Given the description of an element on the screen output the (x, y) to click on. 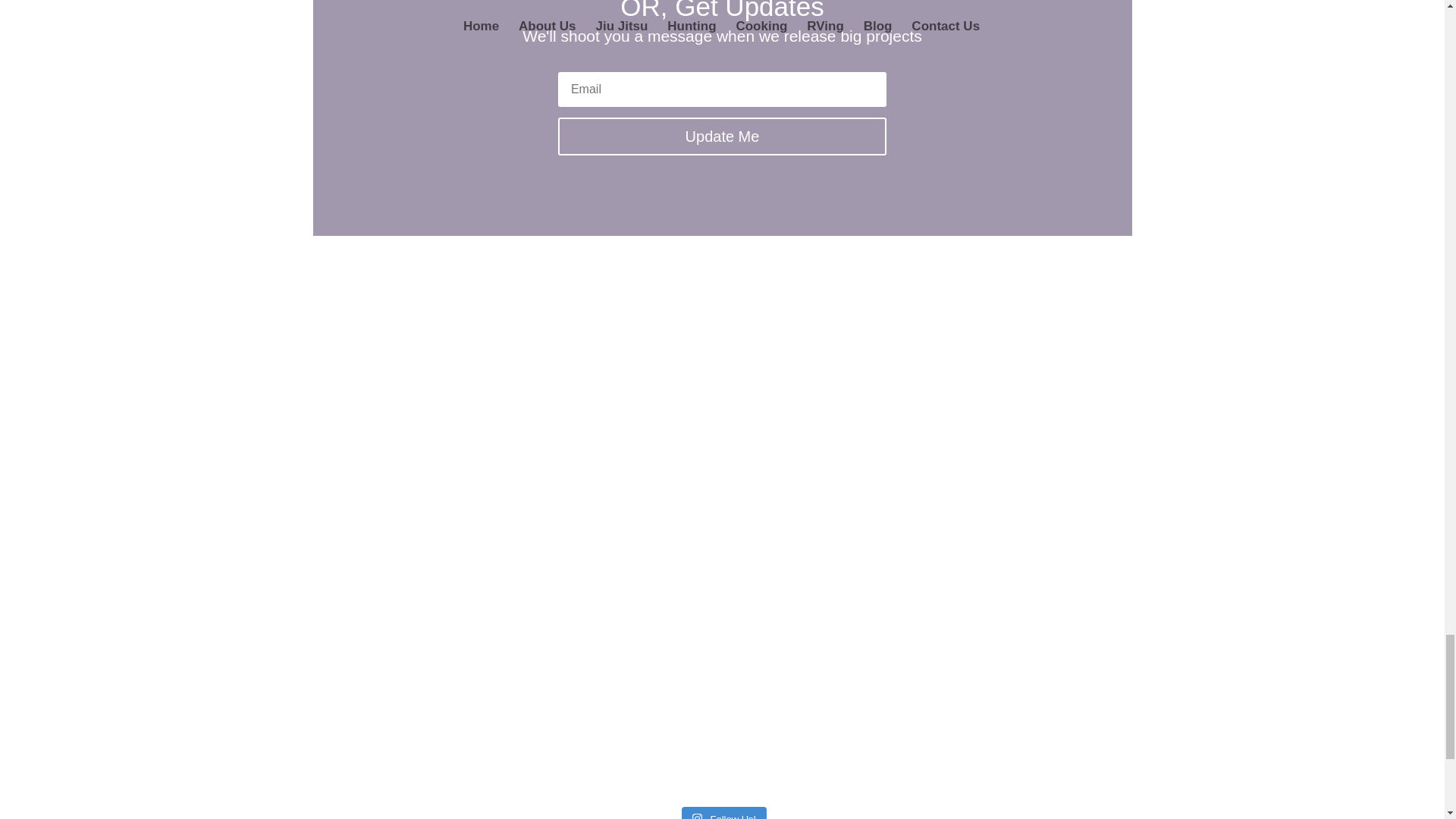
Follow Us! (724, 812)
Update Me (721, 136)
